Given the description of an element on the screen output the (x, y) to click on. 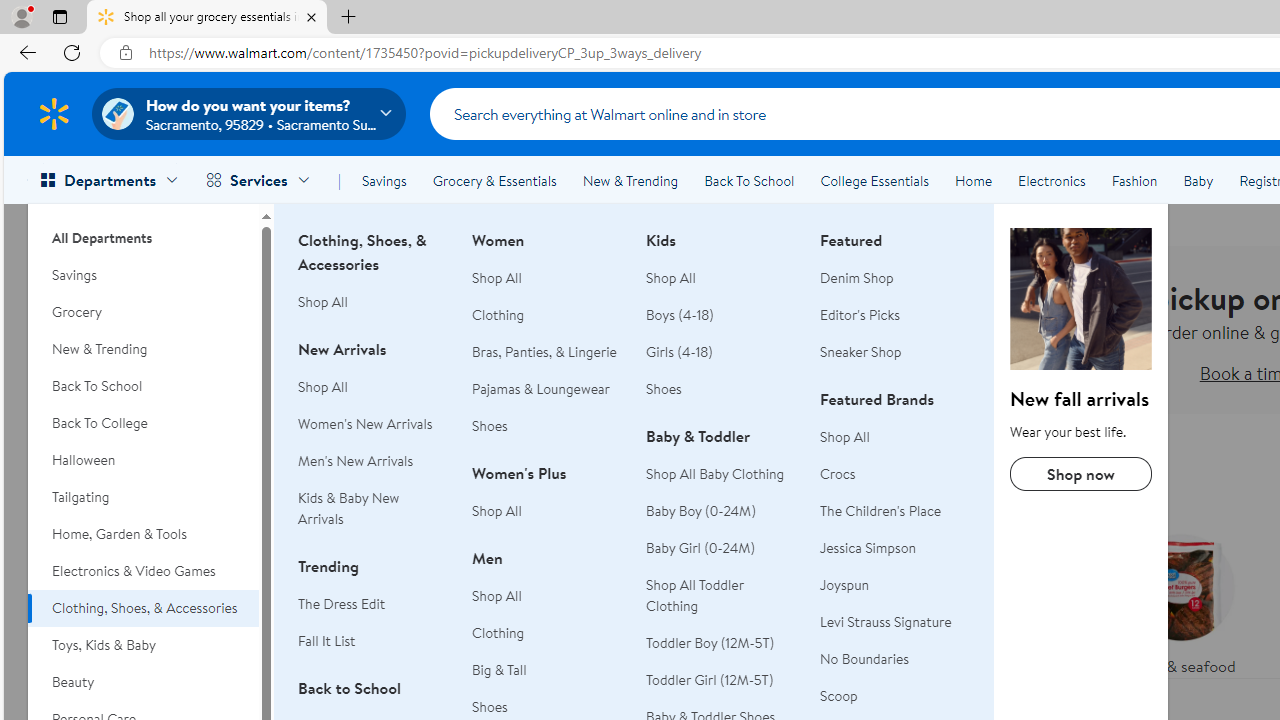
Savings (384, 180)
Editor's Picks (859, 314)
Electronics & Video Games (143, 570)
Baby Boy (0-24M) (701, 511)
Shop All Baby Clothing (721, 474)
Toddler Girl (12M-5T) (721, 680)
Toys, Kids & Baby (143, 645)
Pajamas & Loungewear (547, 389)
